Given the description of an element on the screen output the (x, y) to click on. 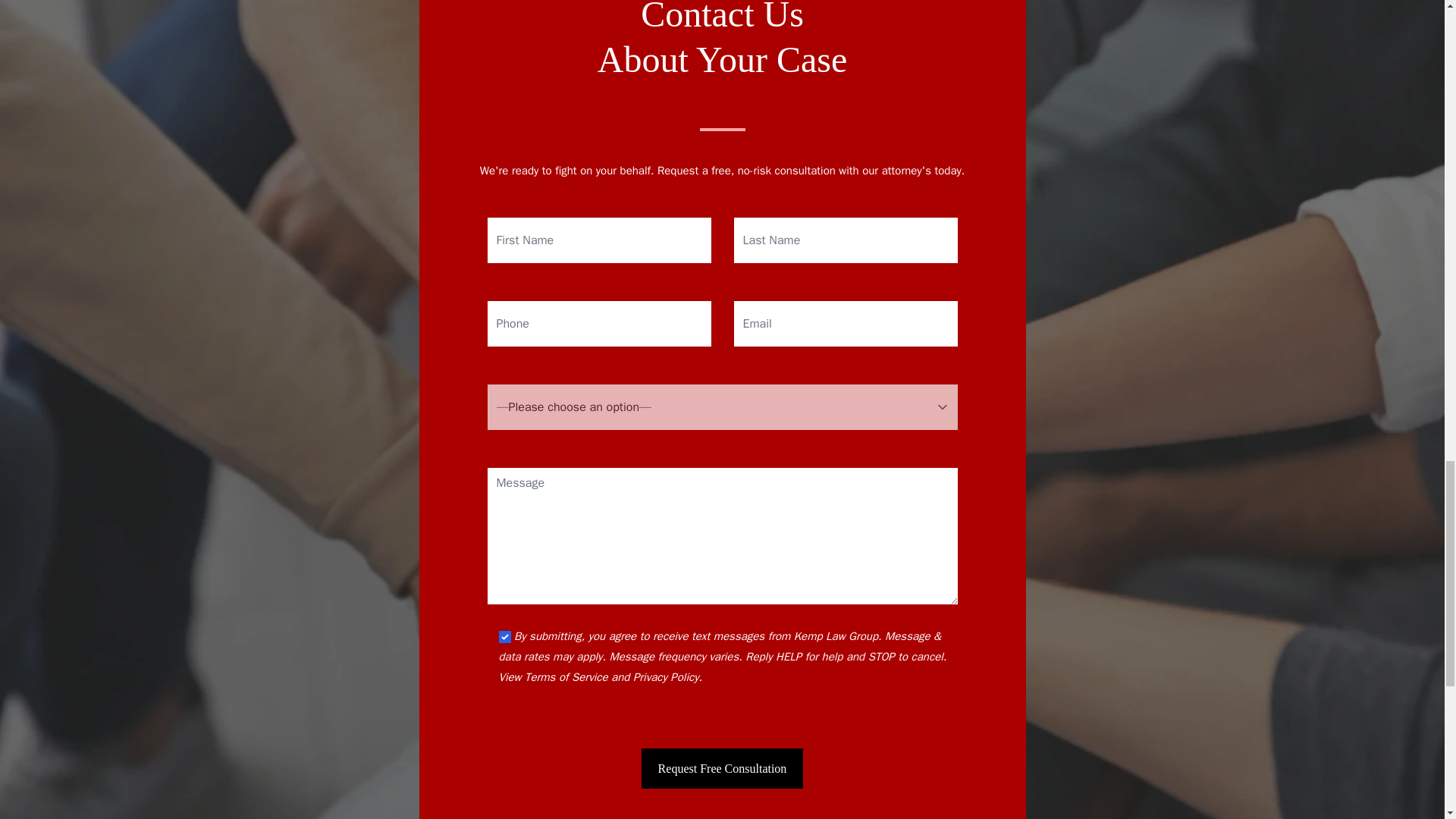
Request Free Consultation (722, 768)
1 (505, 636)
